Given the description of an element on the screen output the (x, y) to click on. 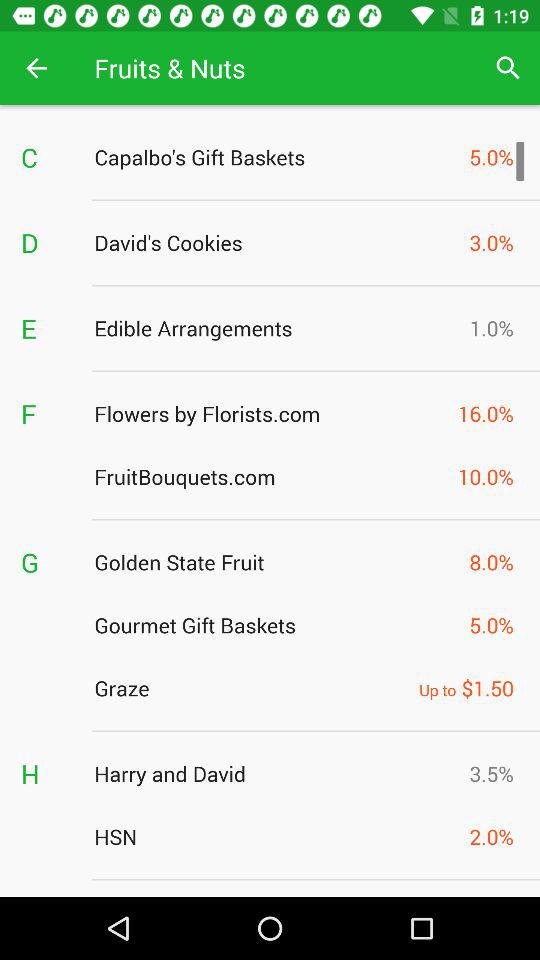
launch item next to the 10.0% icon (270, 476)
